Given the description of an element on the screen output the (x, y) to click on. 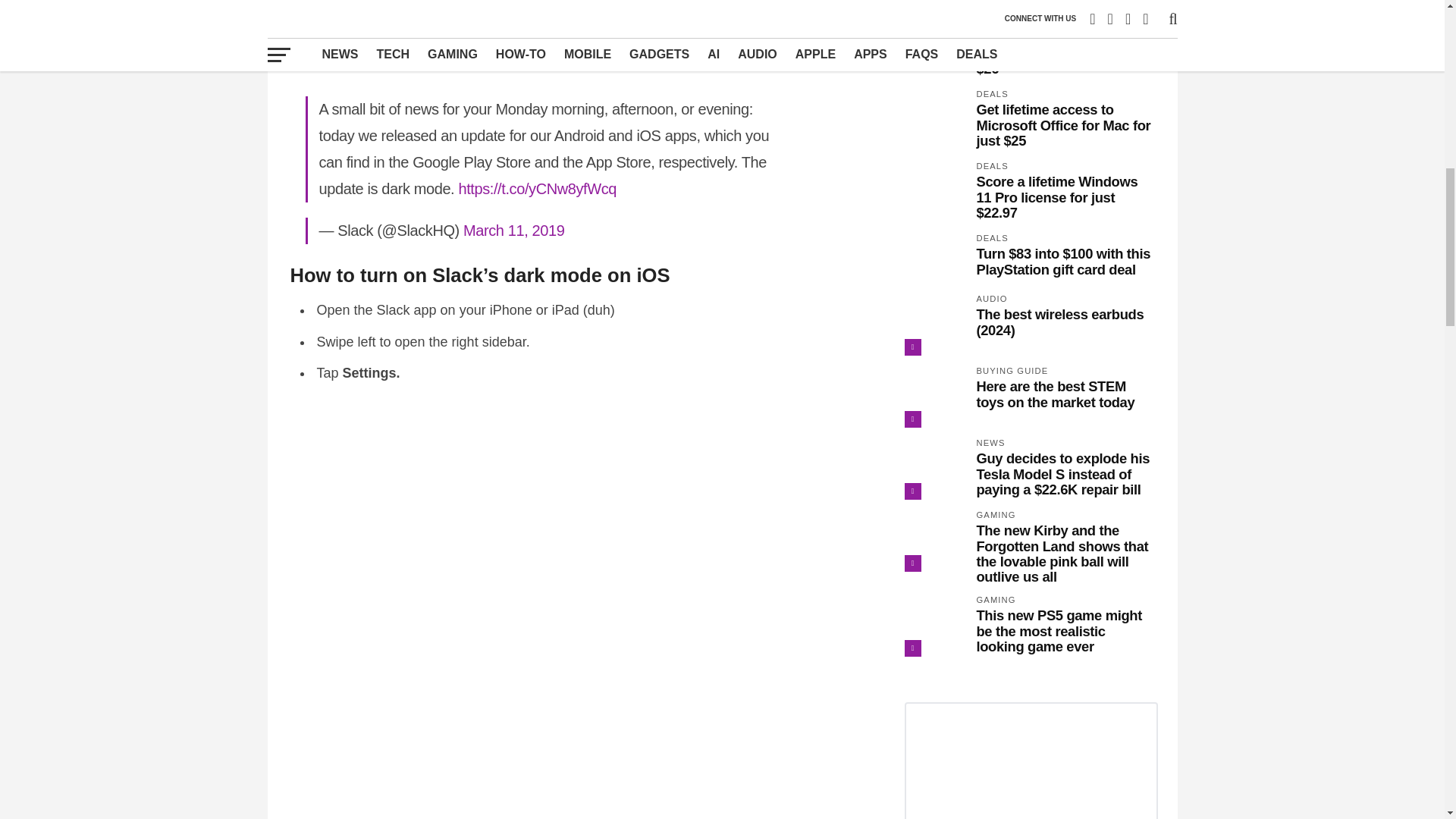
Android (658, 12)
iOS (590, 12)
